Given the description of an element on the screen output the (x, y) to click on. 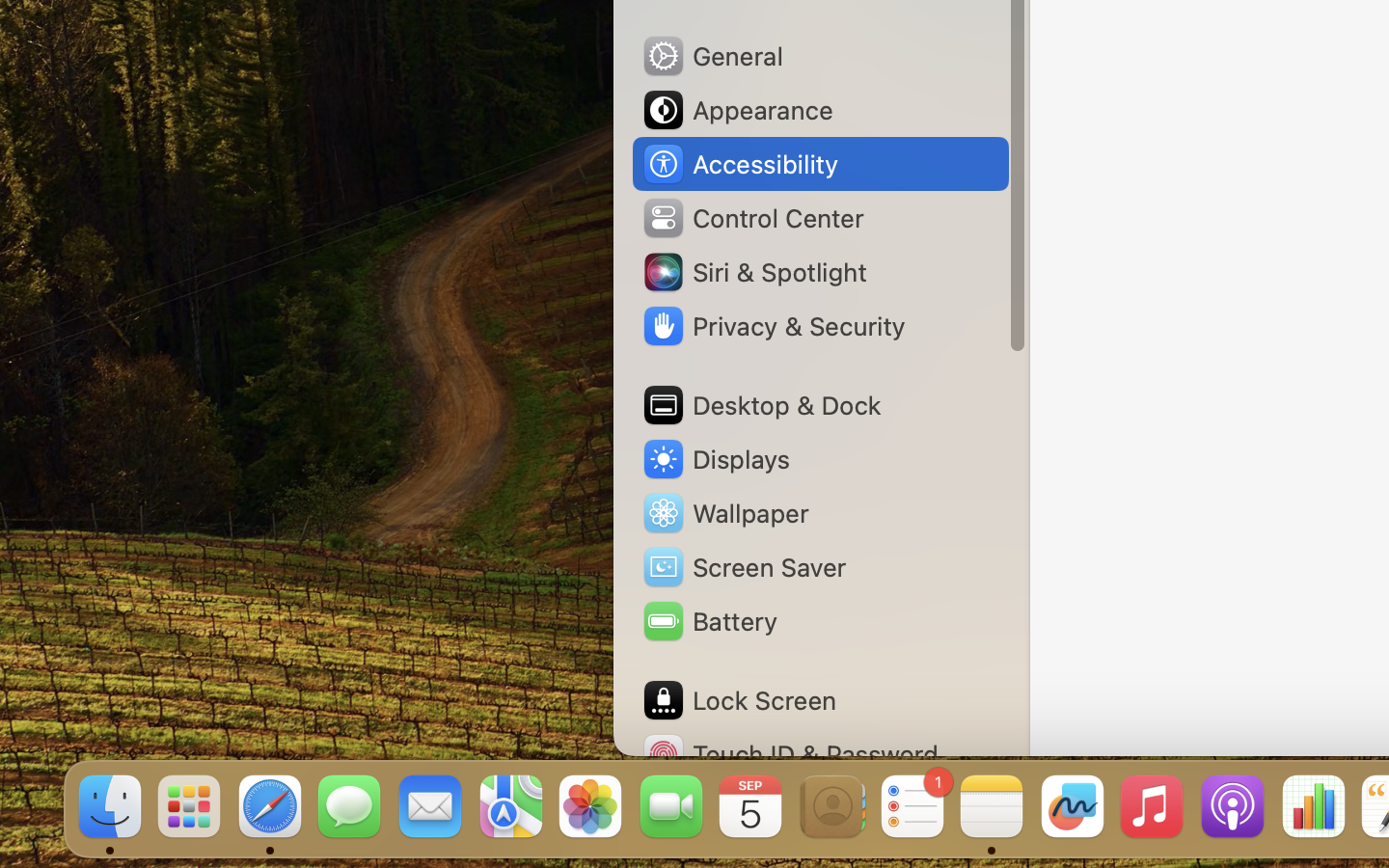
Siri & Spotlight Element type: AXStaticText (753, 271)
General Element type: AXStaticText (711, 55)
Accessibility Element type: AXStaticText (739, 163)
Privacy & Security Element type: AXStaticText (772, 325)
Battery Element type: AXStaticText (708, 620)
